Given the description of an element on the screen output the (x, y) to click on. 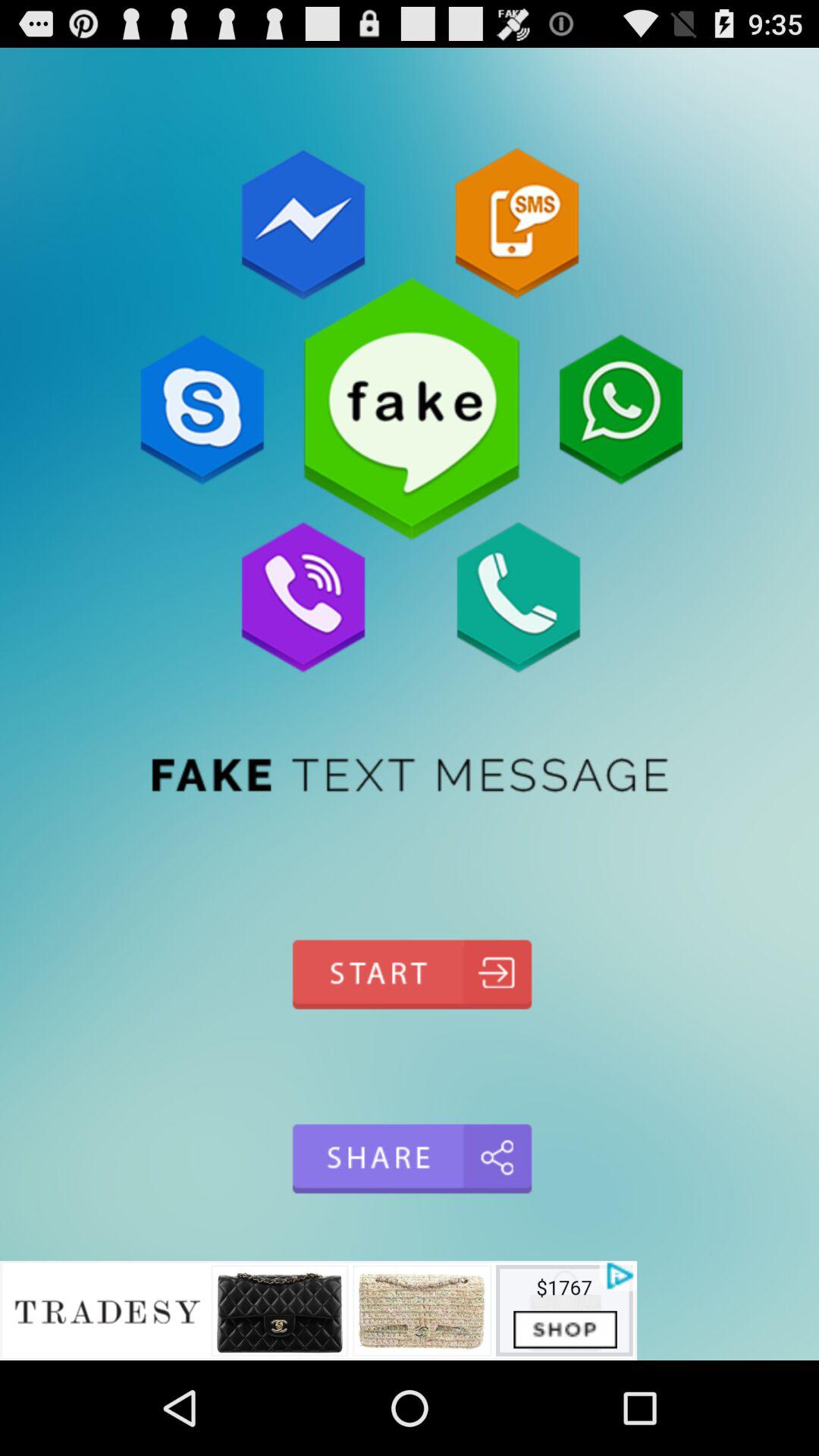
share app online (409, 1158)
